Given the description of an element on the screen output the (x, y) to click on. 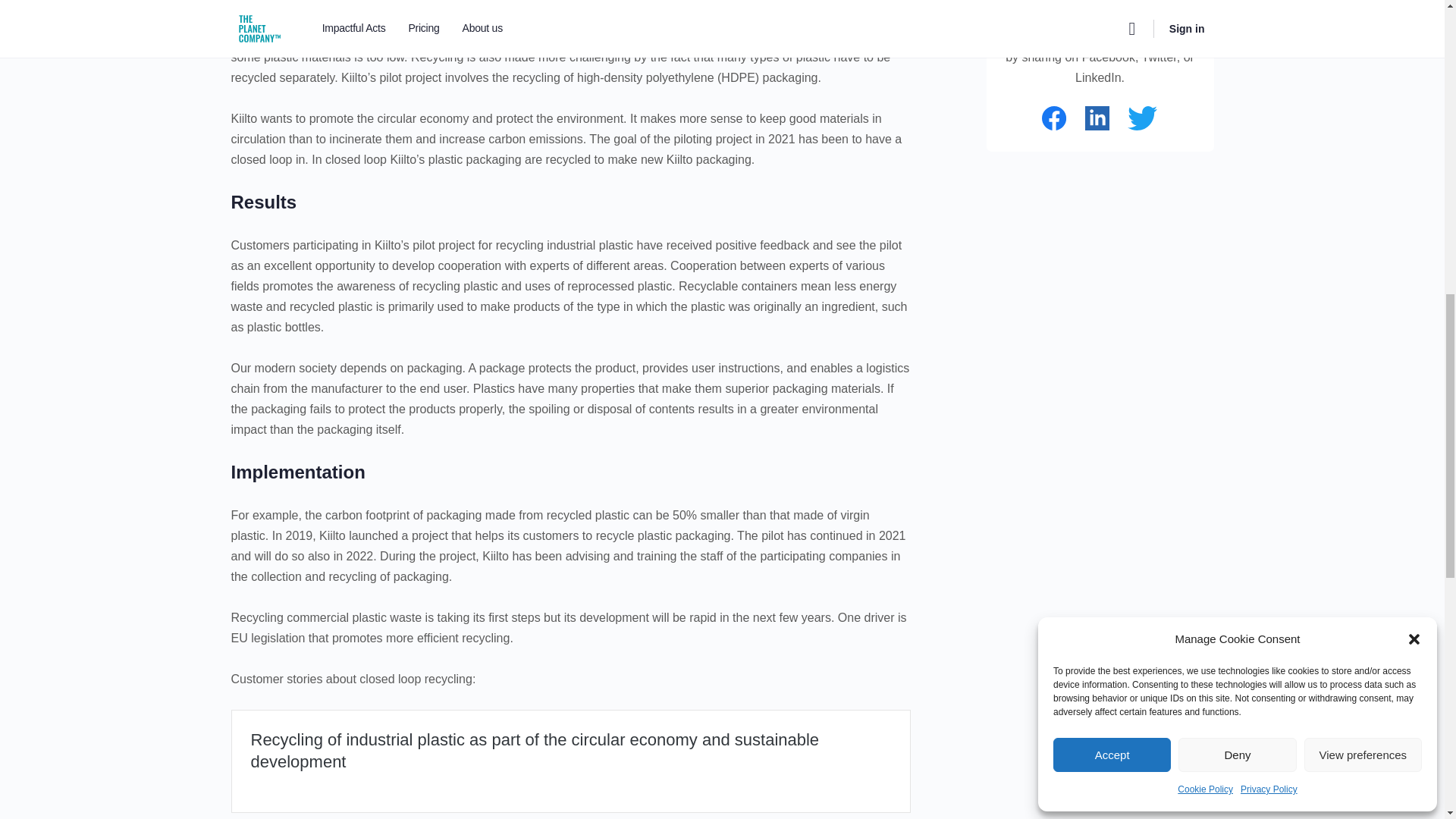
social-facebook (1054, 118)
social-facebook (1054, 118)
